Given the description of an element on the screen output the (x, y) to click on. 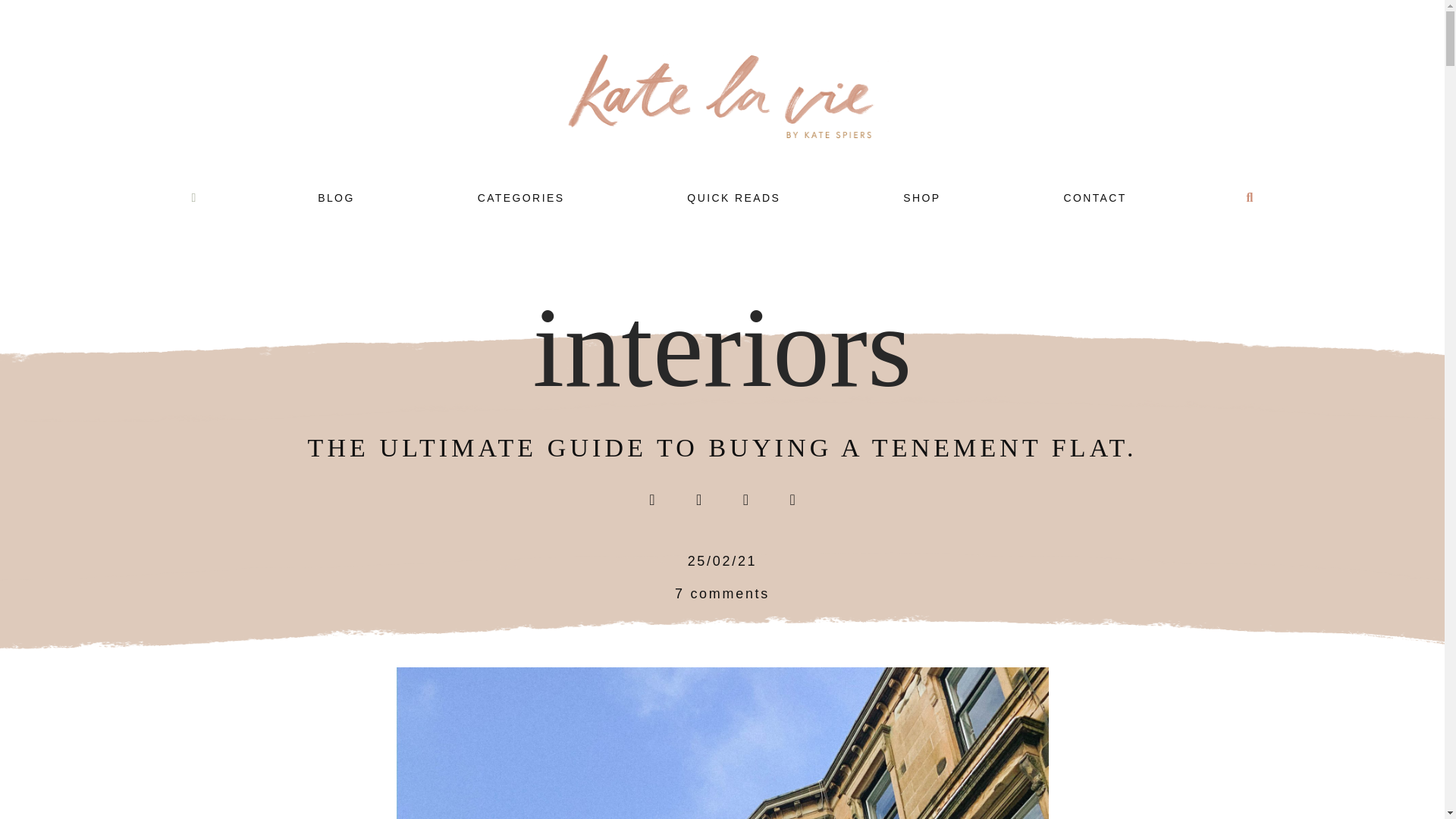
CATEGORIES (520, 197)
BLOG (336, 197)
